Given the description of an element on the screen output the (x, y) to click on. 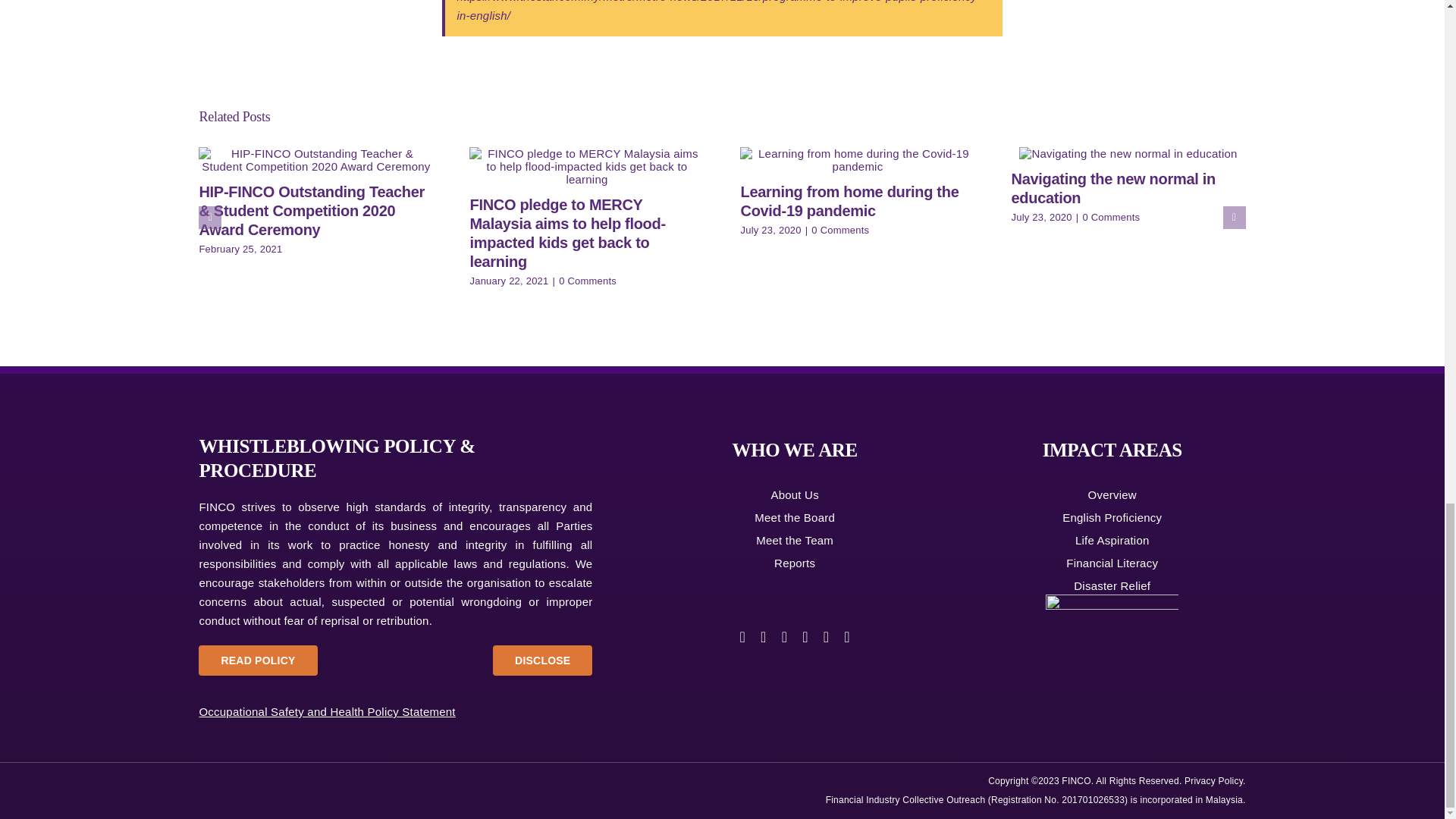
Learning from home during the Covid-19 pandemic (848, 201)
Navigating the new normal in education (1113, 188)
